Given the description of an element on the screen output the (x, y) to click on. 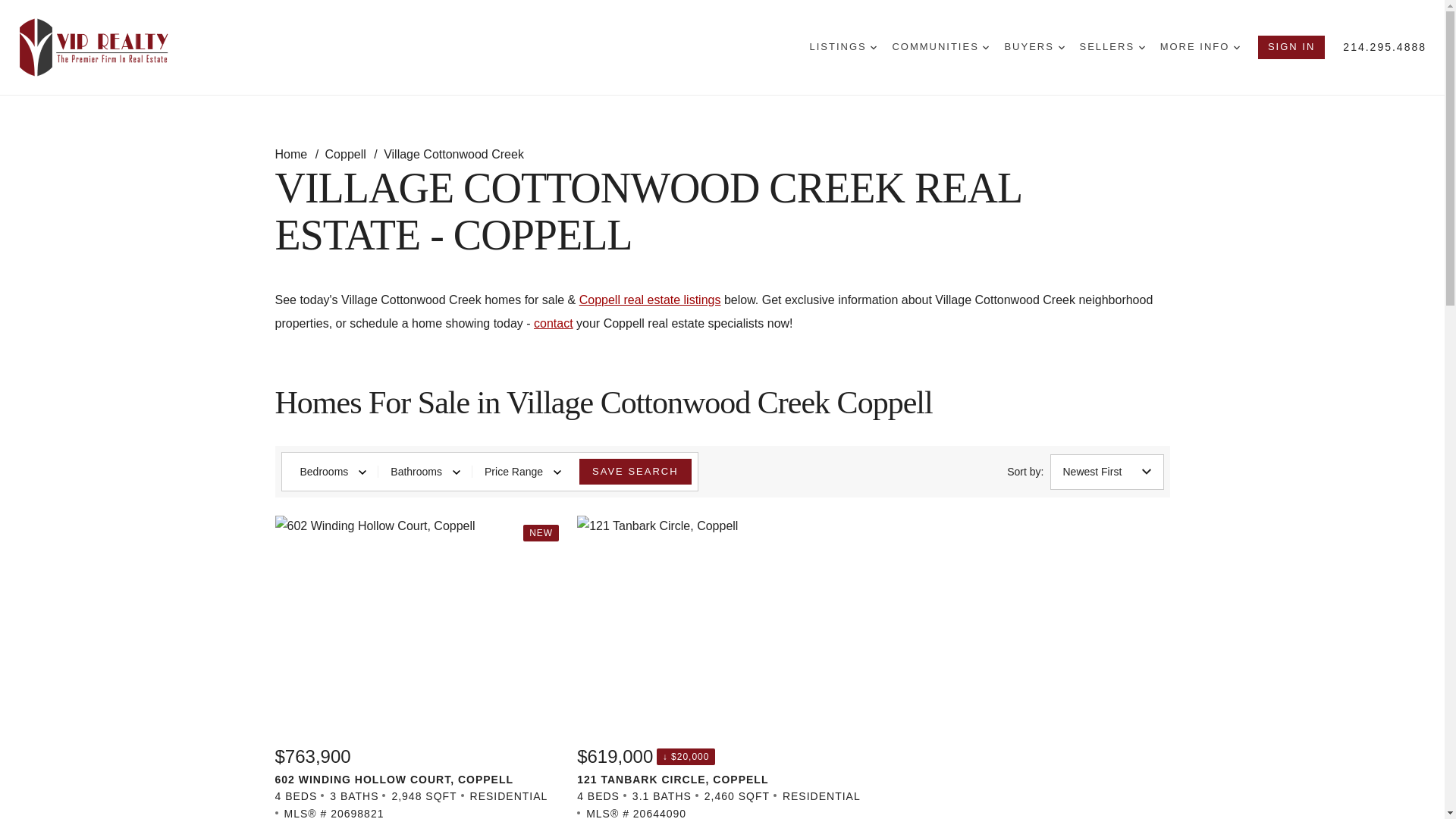
DROPDOWN ARROW (985, 47)
BUYERS DROPDOWN ARROW (1034, 47)
COMMUNITIES DROPDOWN ARROW (939, 47)
DROPDOWN ARROW (1061, 47)
SELLERS DROPDOWN ARROW (1112, 47)
LISTINGS DROPDOWN ARROW (843, 47)
DROPDOWN ARROW (873, 47)
DROPDOWN ARROW (1236, 47)
DROPDOWN ARROW (1141, 47)
MORE INFO DROPDOWN ARROW (1200, 47)
